Given the description of an element on the screen output the (x, y) to click on. 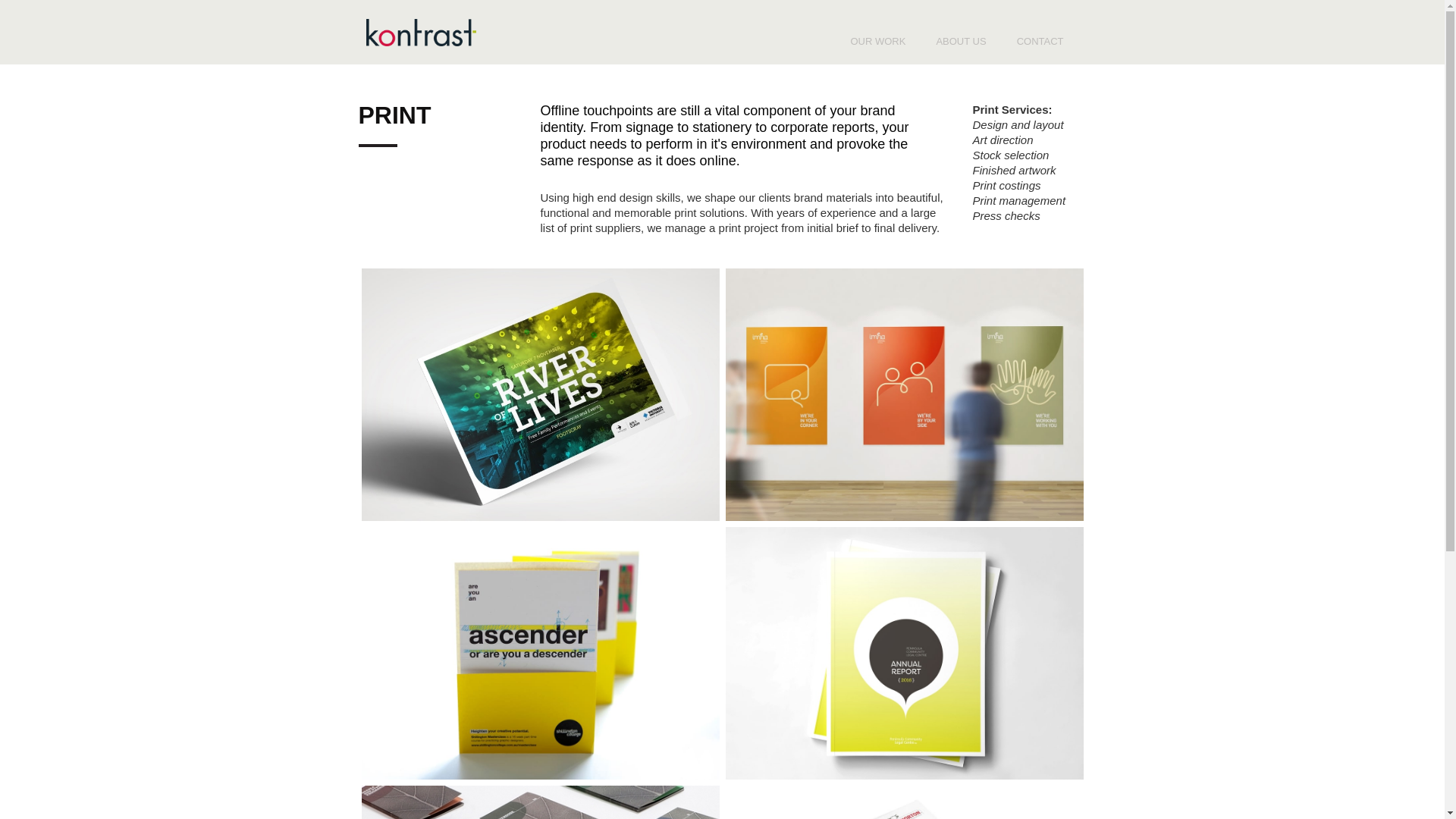
ABOUT US Element type: text (960, 41)
OUR WORK Element type: text (877, 41)
CONTACT Element type: text (1040, 41)
